Given the description of an element on the screen output the (x, y) to click on. 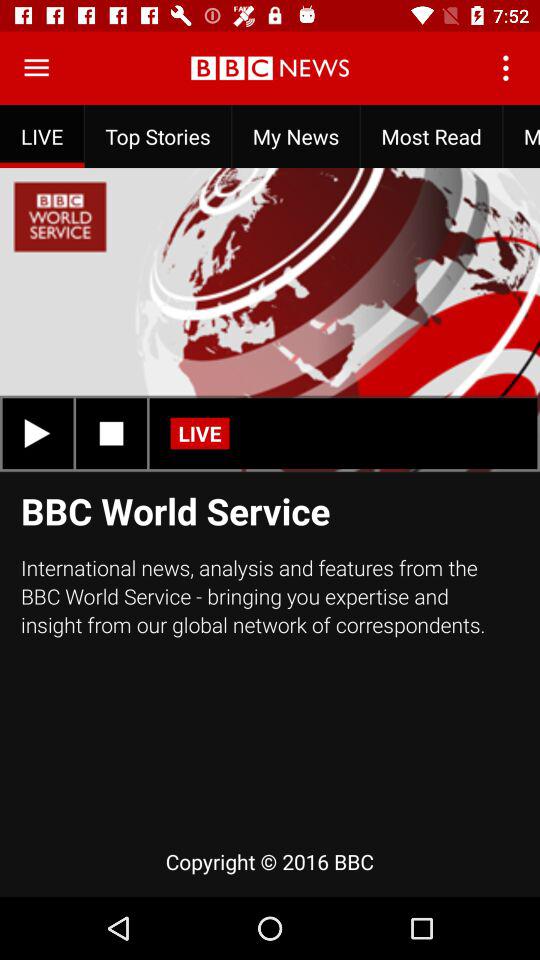
menu (36, 68)
